Given the description of an element on the screen output the (x, y) to click on. 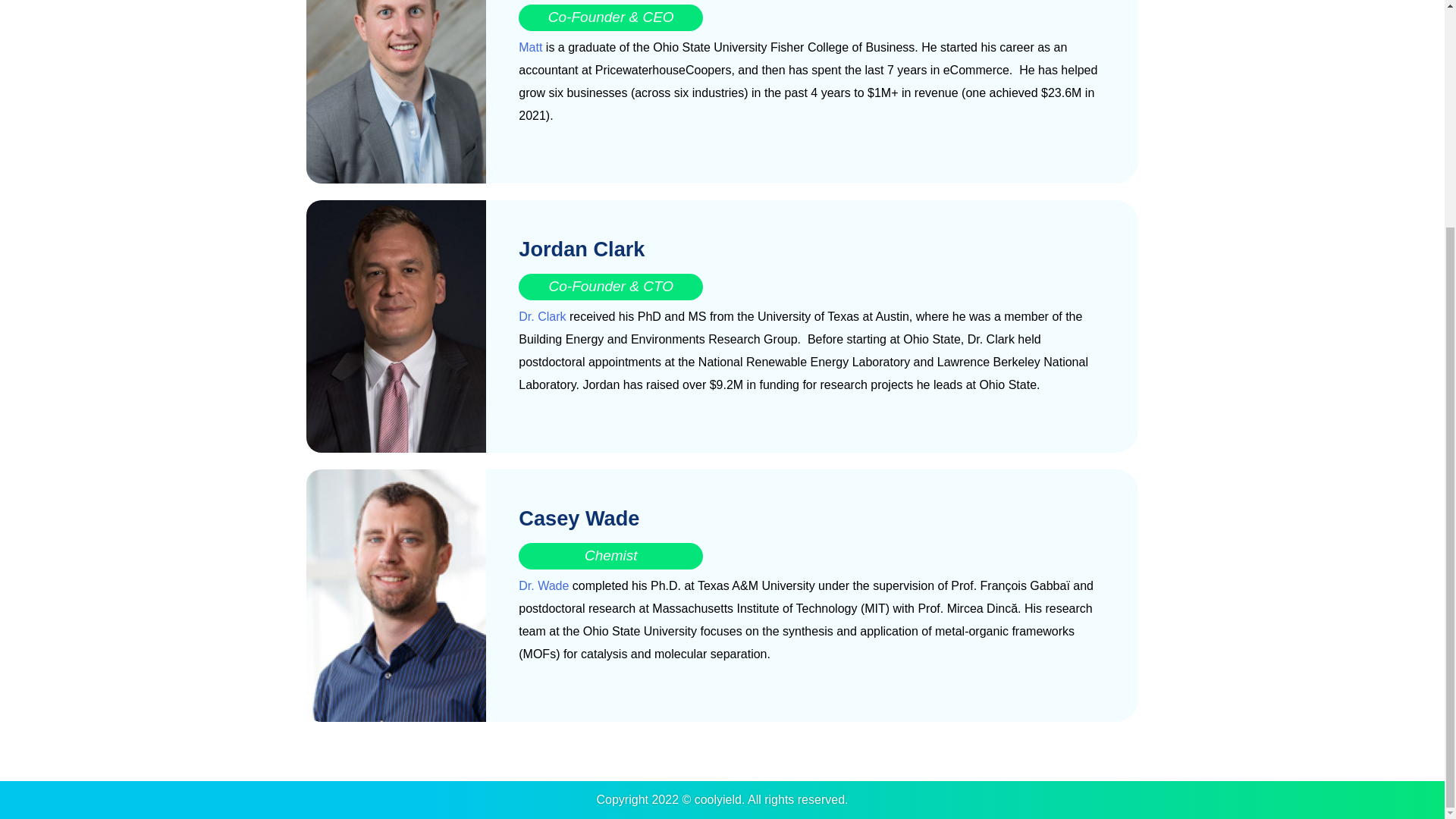
Dr. Wade (543, 585)
Dr. Clark (542, 316)
Matt (529, 47)
